Given the description of an element on the screen output the (x, y) to click on. 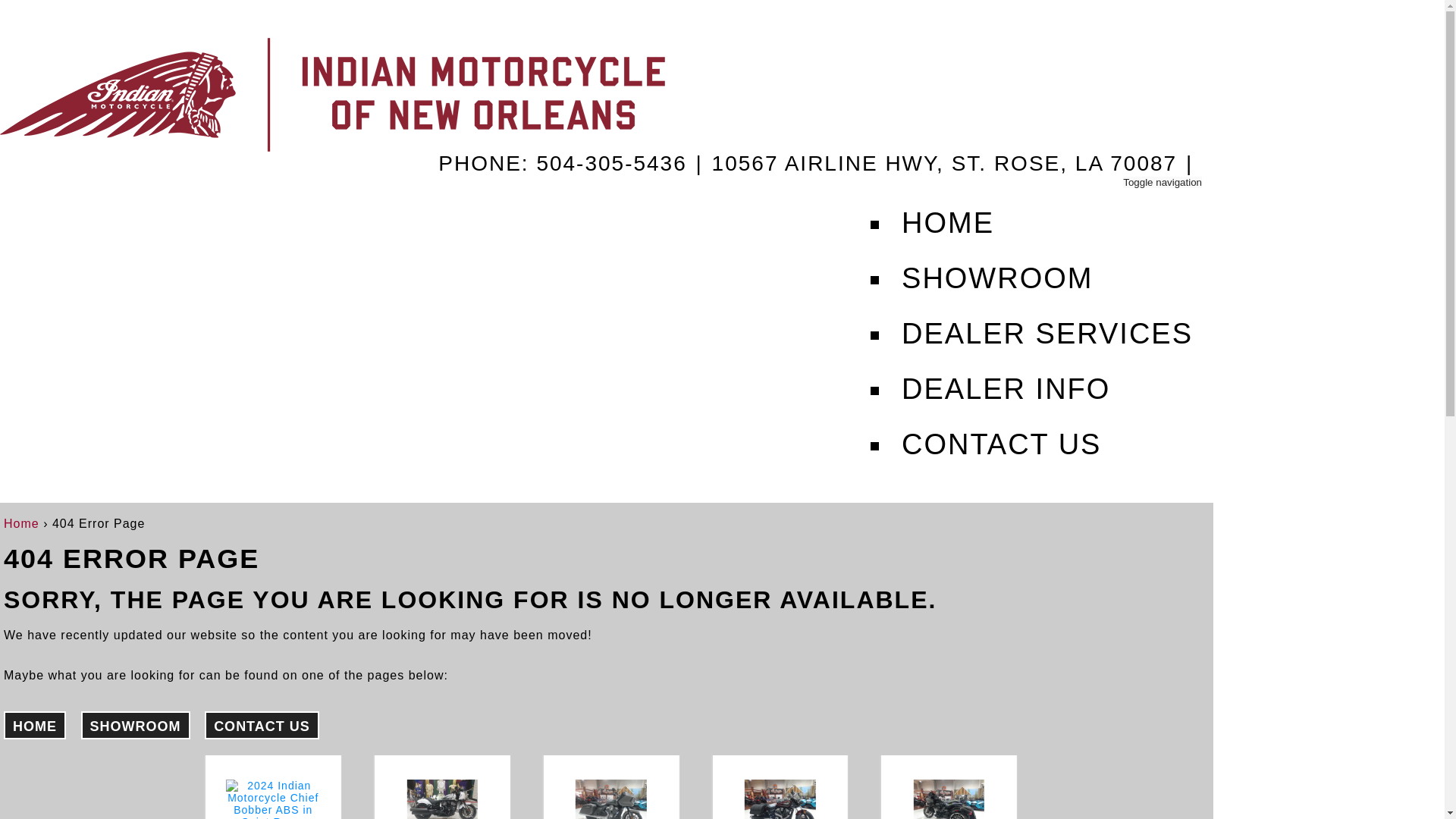
SHOWROOM (135, 725)
HOME (1047, 215)
DEALER SERVICES (1047, 325)
CONTACT US (1047, 437)
404 Error Page (98, 522)
DEALER INFO (1047, 381)
SHOWROOM (1047, 270)
504-305-5436 (610, 163)
Toggle navigation (1162, 182)
Home (21, 522)
HOME (34, 725)
CONTACT US (261, 725)
